Given the description of an element on the screen output the (x, y) to click on. 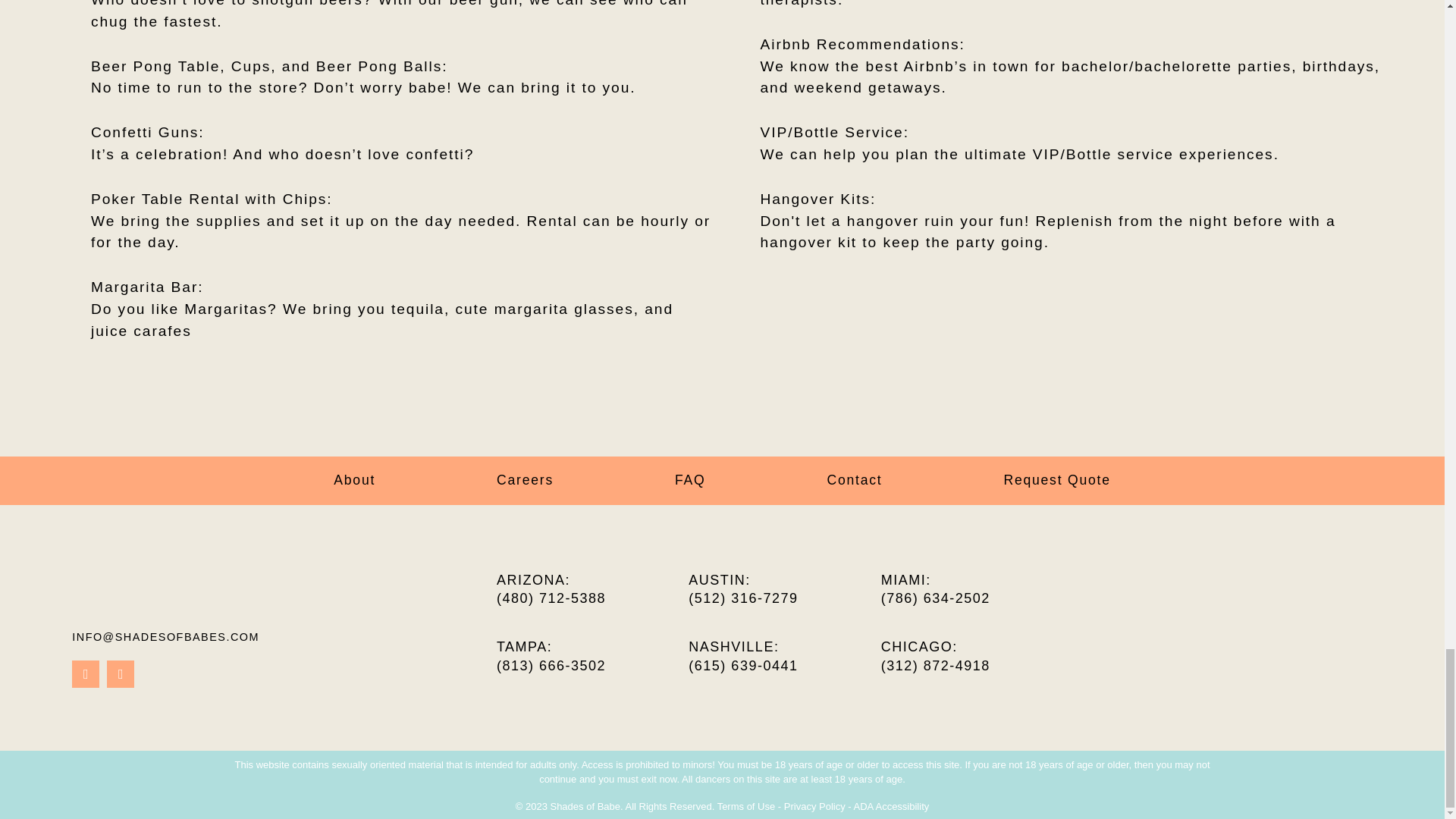
The Bash - Booking Event Planner Online Since 1997 (1374, 641)
